Given the description of an element on the screen output the (x, y) to click on. 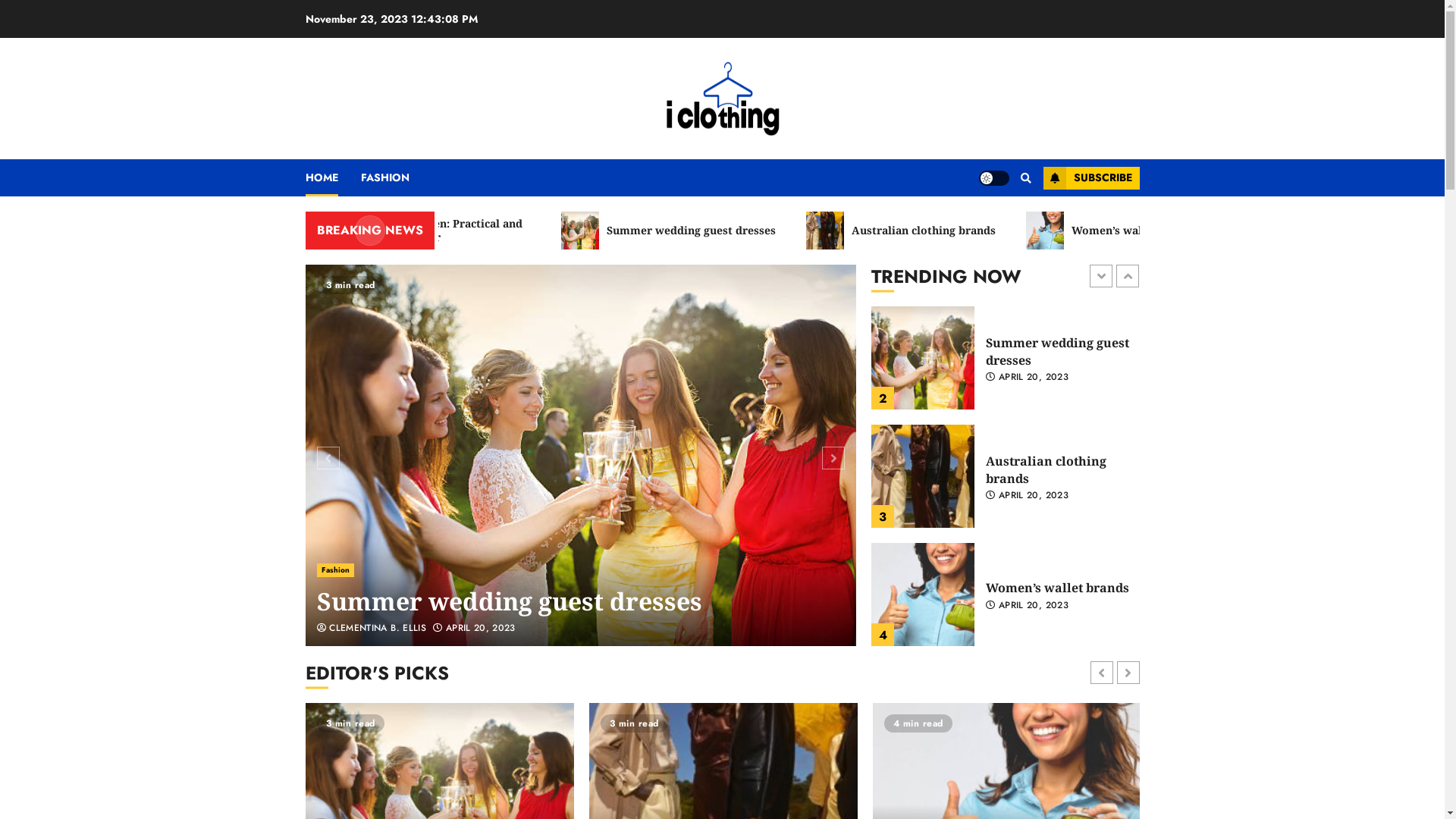
Summer wedding guest dresses Element type: text (1057, 469)
Search Element type: hover (1025, 177)
Clear Heels for Women: Practical and Fashionable Footwear Element type: text (463, 230)
FASHION Element type: text (396, 177)
Australian clothing brands Element type: text (1045, 588)
Summer wedding guest dresses Element type: text (509, 601)
Clear Heels for Women: Practical and Fashionable Footwear Element type: text (1058, 351)
Clear Heels for Women: Practical and Fashionable Footwear Element type: text (922, 357)
Australian clothing brands Element type: text (960, 230)
Fashion Element type: text (335, 570)
CLEMENTINA B. ELLIS Element type: text (371, 628)
Light/Dark Button Element type: text (993, 177)
Summer wedding guest dresses Element type: text (580, 455)
Search Element type: text (996, 223)
Summer wedding guest dresses Element type: text (922, 475)
SUBSCRIBE Element type: text (1091, 177)
HOME Element type: text (332, 177)
Australian clothing brands Element type: text (922, 594)
Summer wedding guest dresses Element type: text (727, 230)
